Given the description of an element on the screen output the (x, y) to click on. 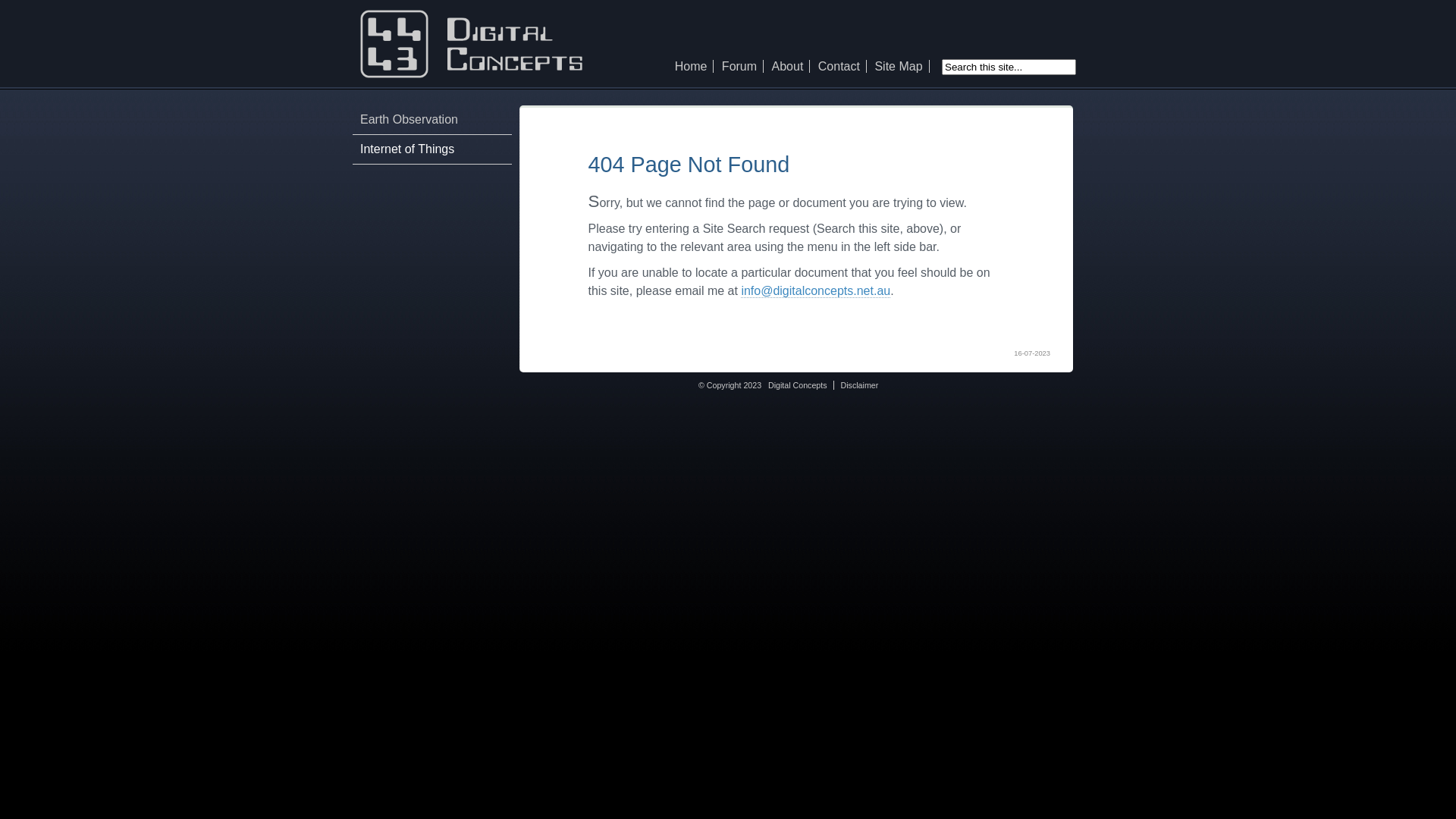
Site Map Element type: text (898, 65)
Contact Element type: text (838, 65)
About Element type: text (787, 65)
Forum Element type: text (738, 65)
info@digitalconcepts.net.au Element type: text (815, 291)
Earth Observation Element type: text (409, 118)
Home Element type: text (690, 65)
Disclaimer Element type: text (859, 384)
Internet of Things Element type: text (407, 148)
Enter search criteria Element type: hover (1008, 67)
